Given the description of an element on the screen output the (x, y) to click on. 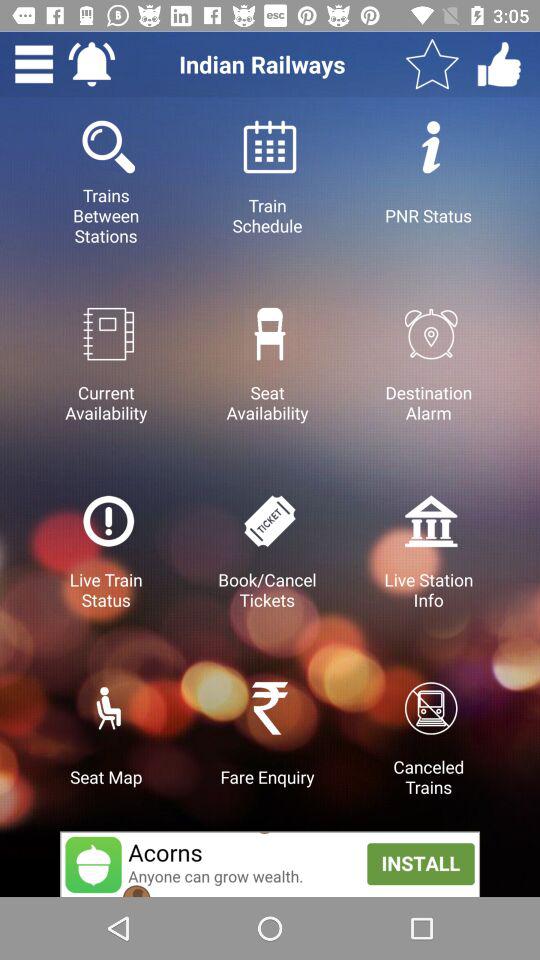
install acorns (270, 864)
